Given the description of an element on the screen output the (x, y) to click on. 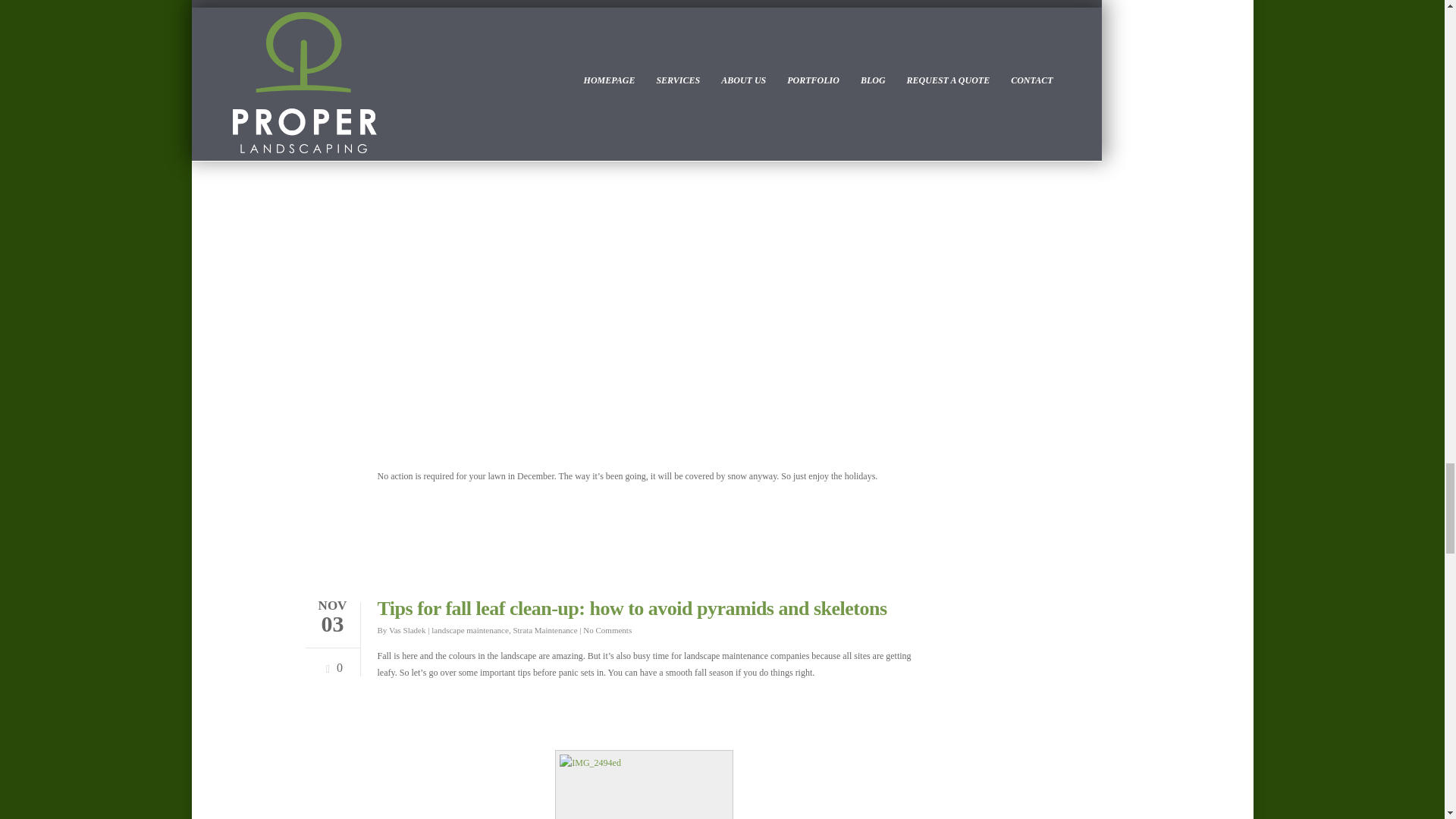
Love this (330, 662)
Posts by Vas Sladek (407, 629)
